Given the description of an element on the screen output the (x, y) to click on. 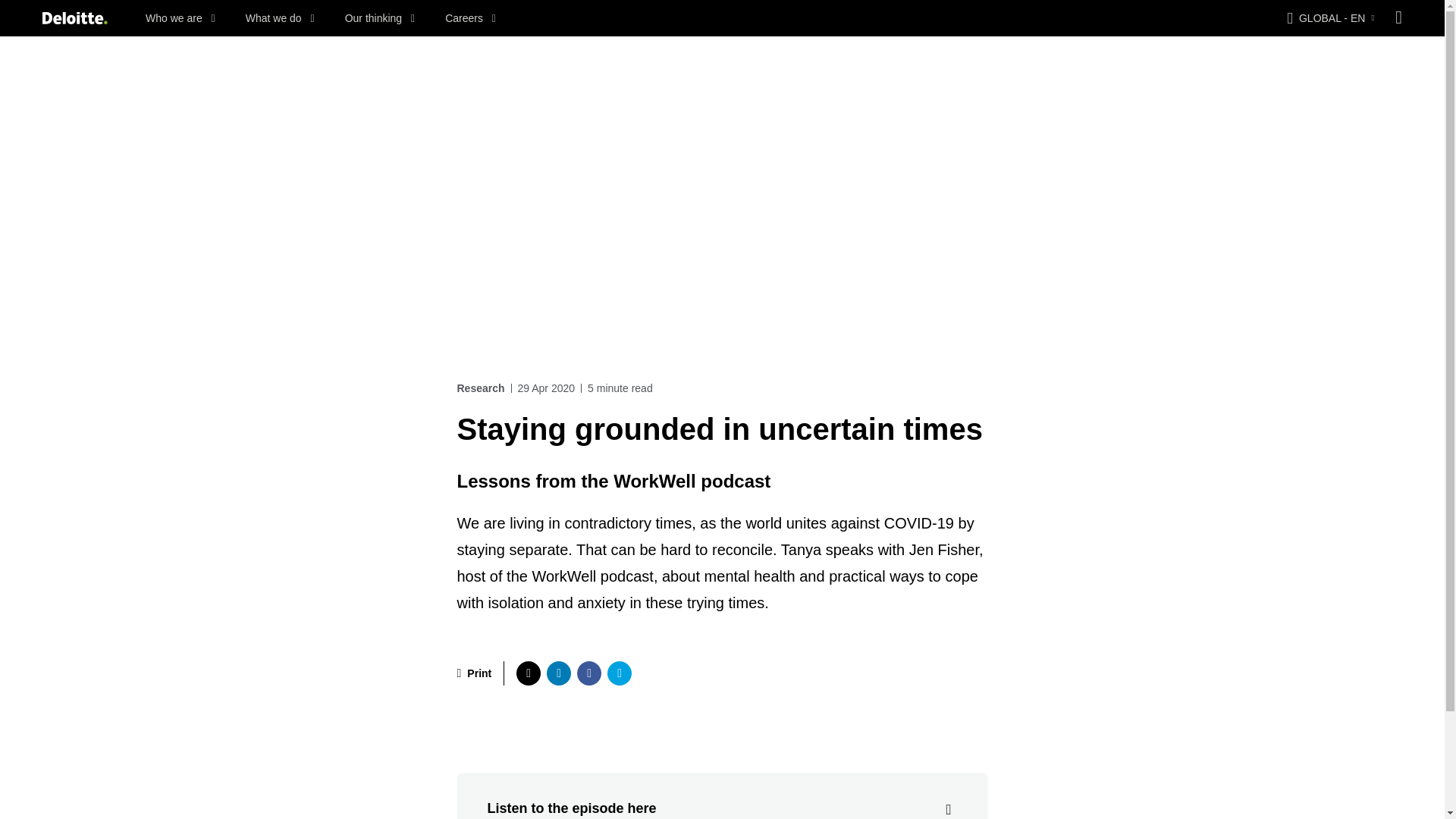
share via linkedin (558, 672)
share via twitter (528, 672)
What we do (280, 18)
share va email (619, 672)
Who we are (180, 18)
share via facebook (588, 672)
Deloitte (74, 18)
Print (474, 672)
Our thinking (379, 18)
Careers (470, 18)
